Given the description of an element on the screen output the (x, y) to click on. 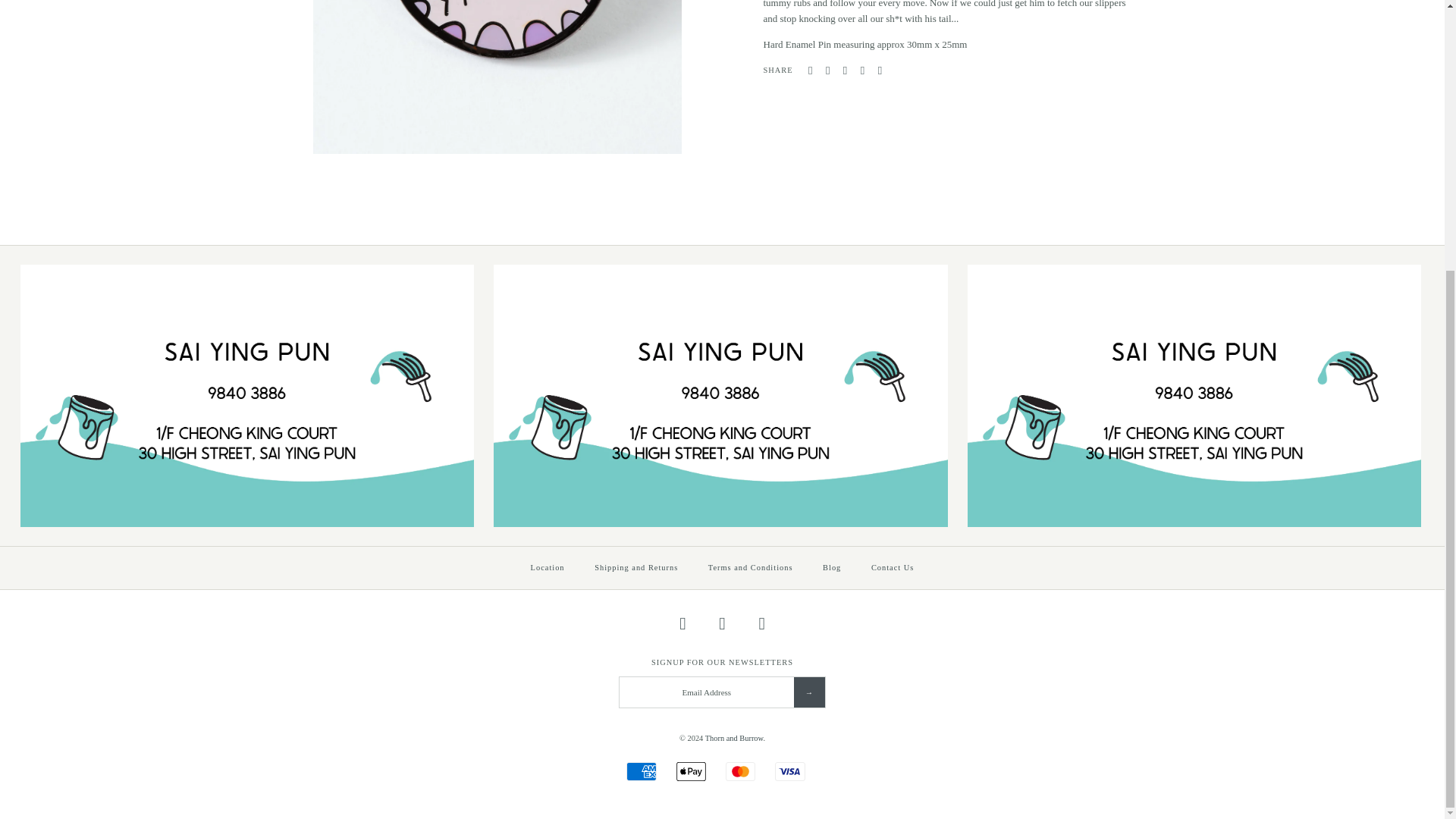
Share on Twitter (827, 70)
Share using email (879, 70)
Share on Facebook (809, 70)
Pin the main image (844, 70)
